Given the description of an element on the screen output the (x, y) to click on. 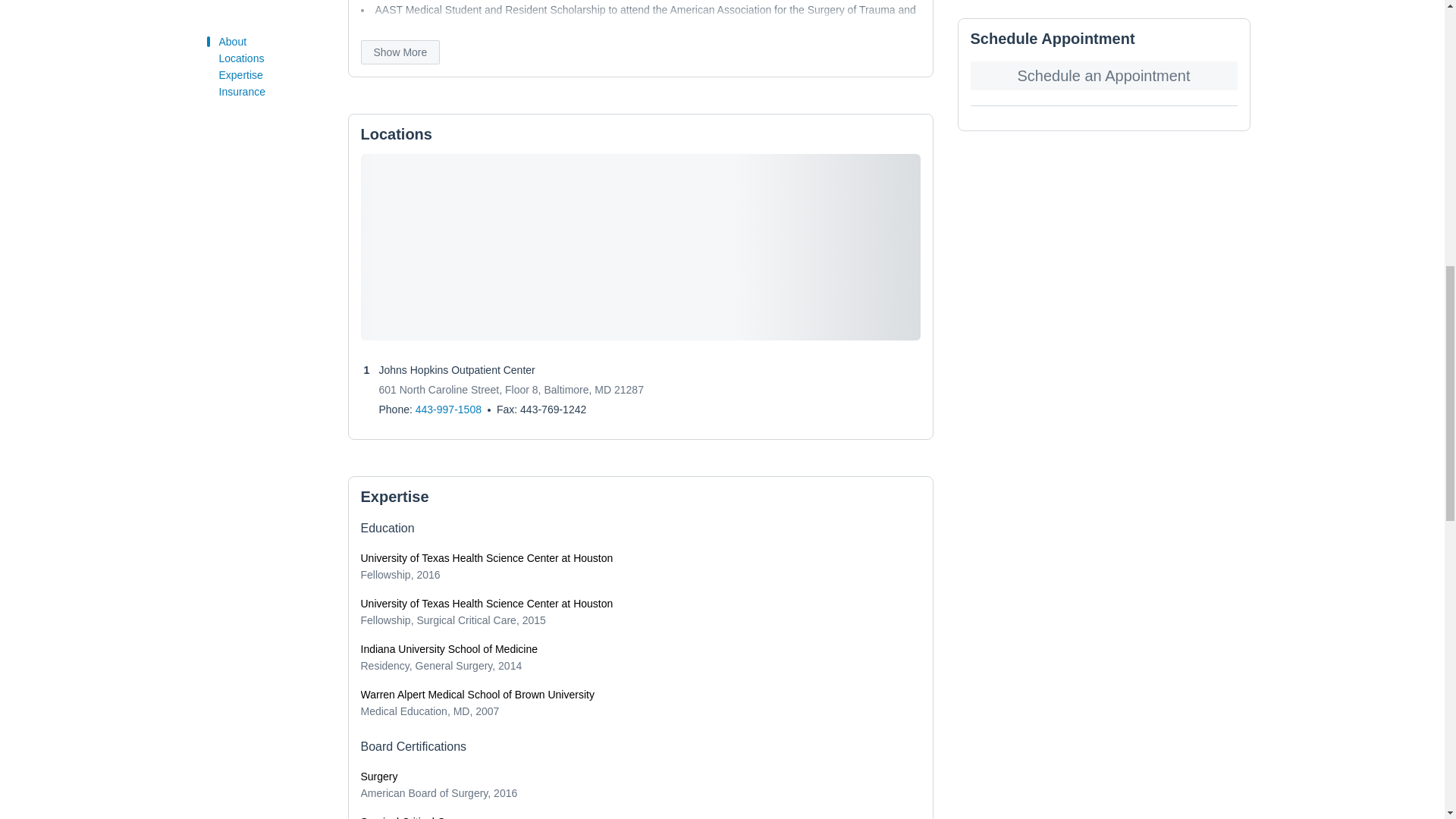
Show More (401, 52)
443-997-1508 (447, 409)
